Given the description of an element on the screen output the (x, y) to click on. 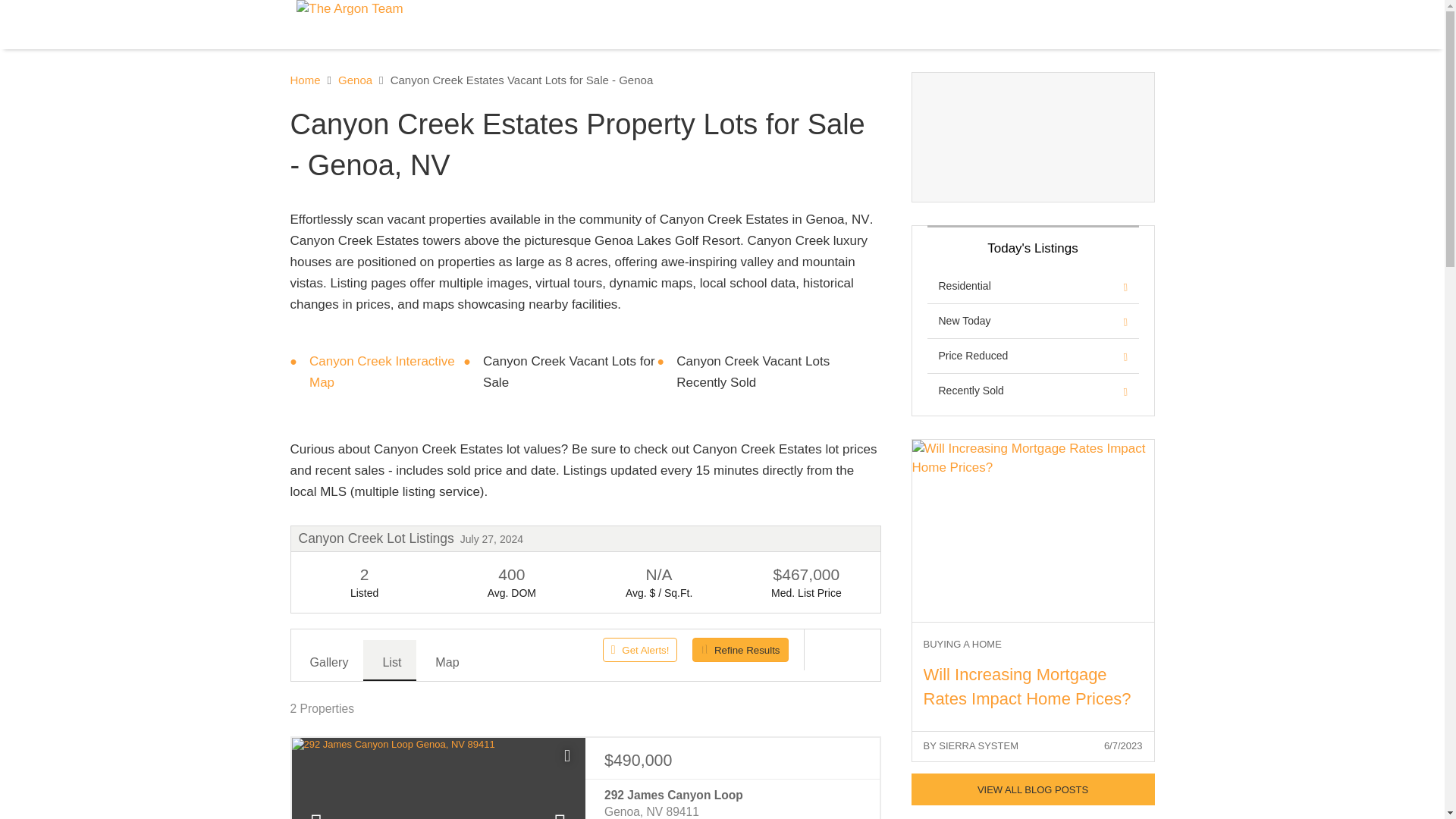
292 James Canyon Loop Genoa,  NV 89411 (732, 803)
